Given the description of an element on the screen output the (x, y) to click on. 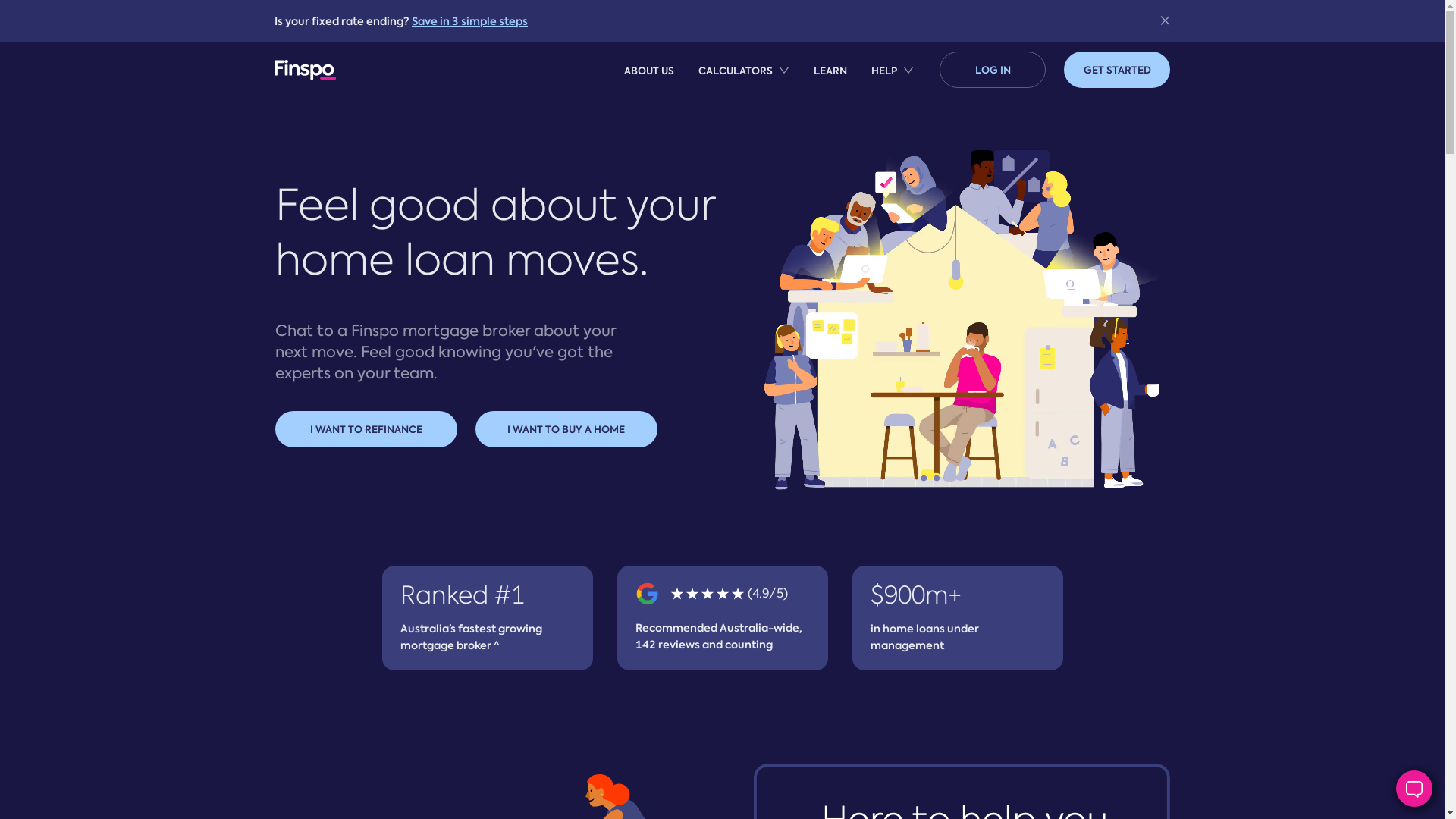
I WANT TO BUY A HOME Element type: text (565, 429)
Finspo. Home Element type: hover (346, 69)
I WANT TO REFINANCE Element type: text (365, 429)
LEARN Element type: text (830, 70)
ABOUT US Element type: text (649, 70)
GET STARTED Element type: text (1116, 69)
LOG IN Element type: text (992, 69)
Save in 3 simple steps Element type: text (469, 20)
